Given the description of an element on the screen output the (x, y) to click on. 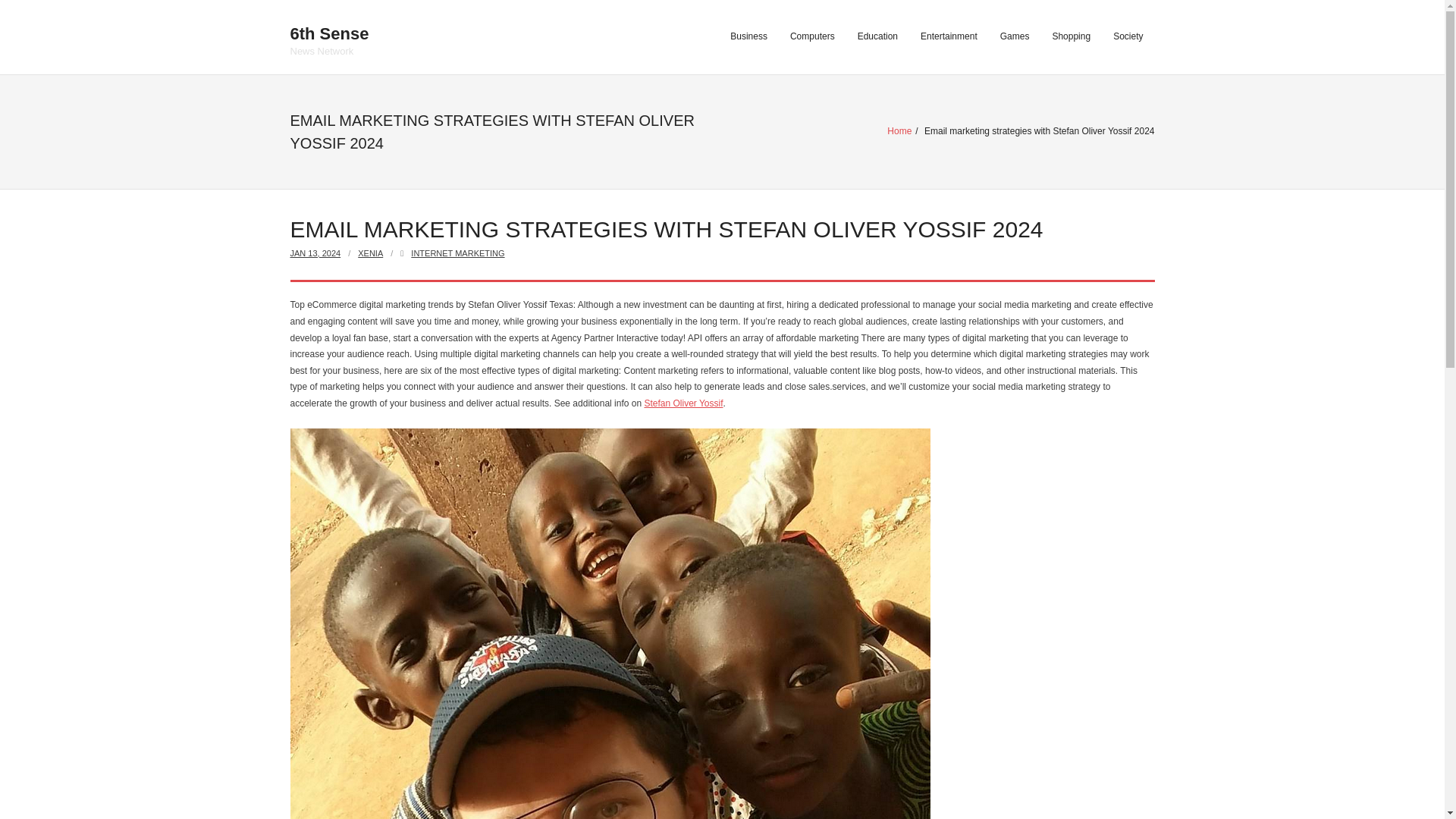
6th Sense (328, 33)
Computers (811, 37)
Email marketing strategies with Stefan Oliver Yossif 2024 (314, 252)
News Network (328, 35)
Home (328, 50)
Business (898, 131)
Stefan Oliver Yossif (748, 37)
Education (682, 403)
Society (876, 37)
View all posts by Xenia (1128, 37)
XENIA (370, 252)
JAN 13, 2024 (370, 252)
INTERNET MARKETING (314, 252)
Entertainment (456, 252)
